Given the description of an element on the screen output the (x, y) to click on. 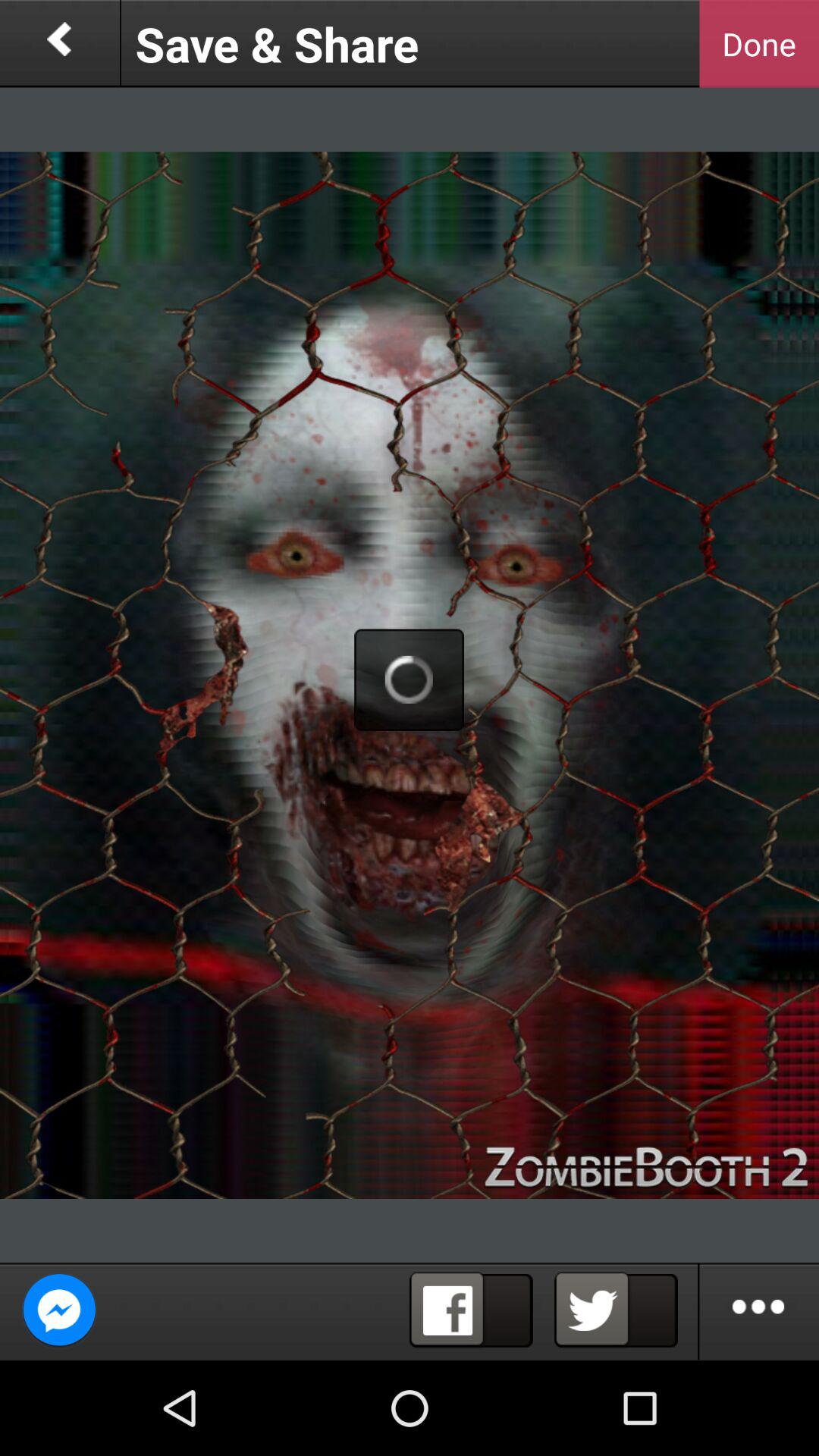
go to the facebook page (470, 1310)
